Given the description of an element on the screen output the (x, y) to click on. 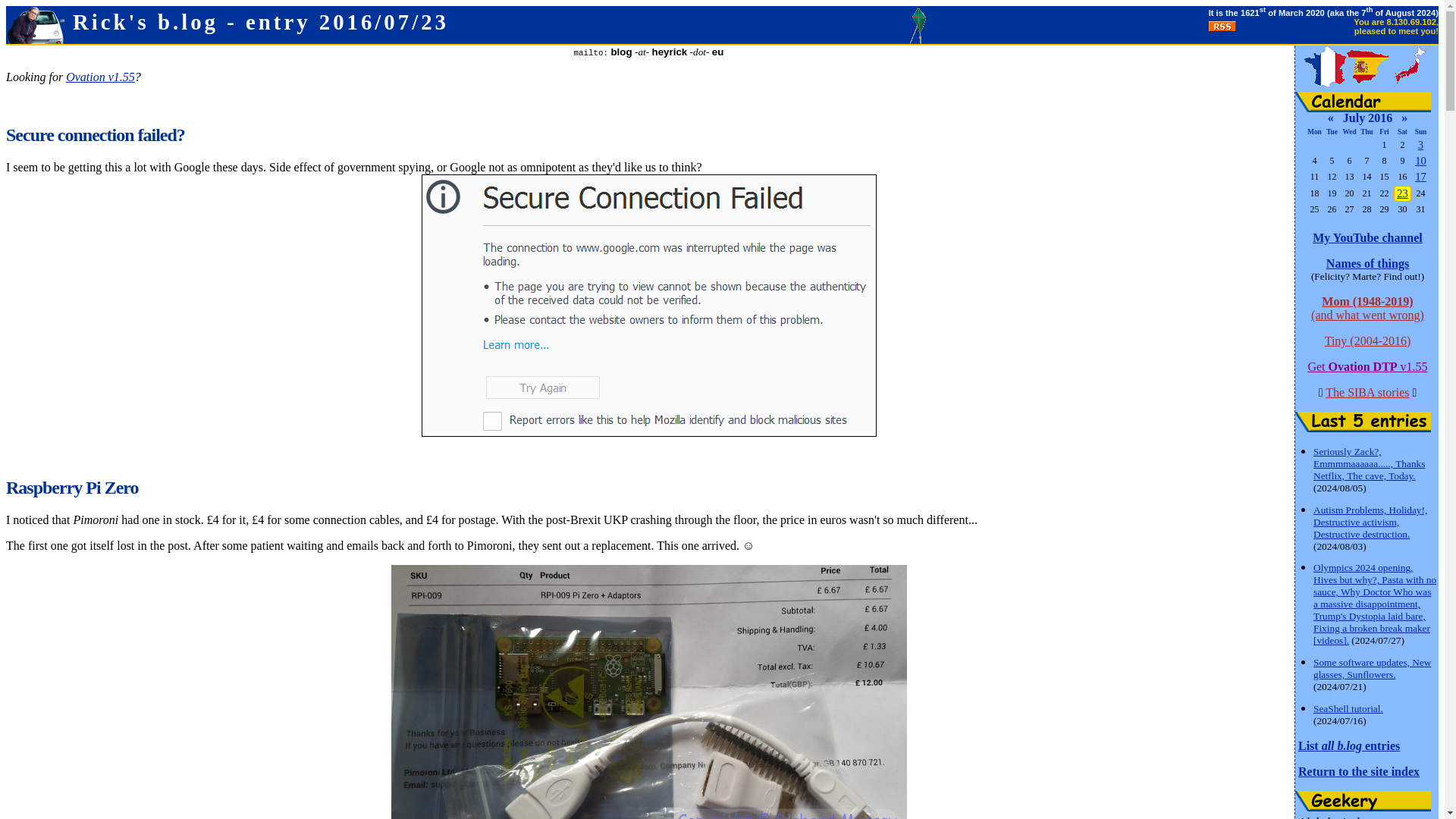
Names of things (1367, 263)
Ovation v1.55 (100, 76)
Last 5 entries (1363, 421)
July 2016 (1366, 117)
List all b.log entries (1348, 745)
Return to the site index (1358, 771)
Calendar (1363, 101)
Creating an EPUB file (1420, 176)
SeaShell tutorial. (1348, 708)
Geekery (1363, 801)
